Given the description of an element on the screen output the (x, y) to click on. 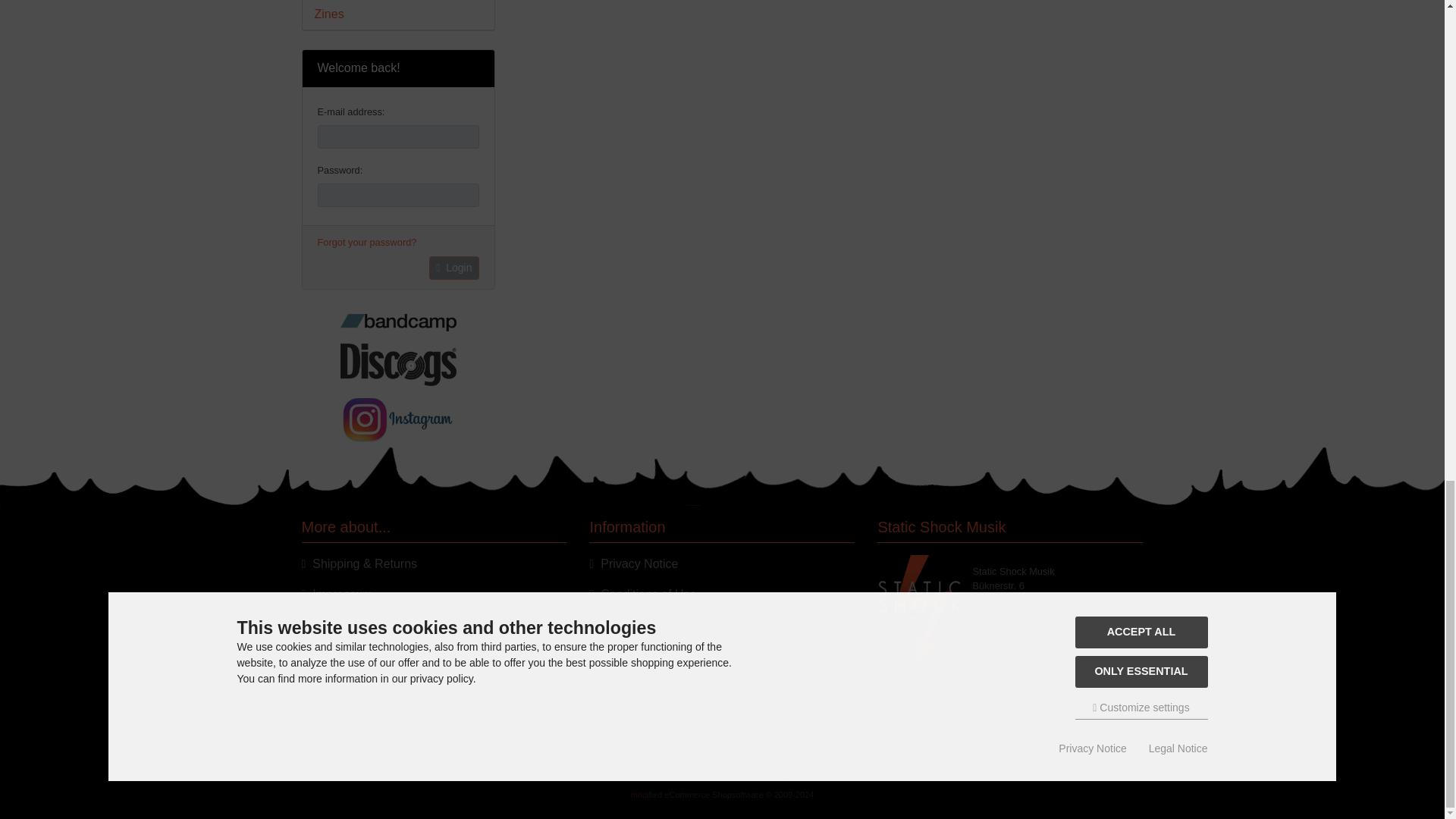
Forgot your password? (366, 242)
Zines (397, 14)
